Given the description of an element on the screen output the (x, y) to click on. 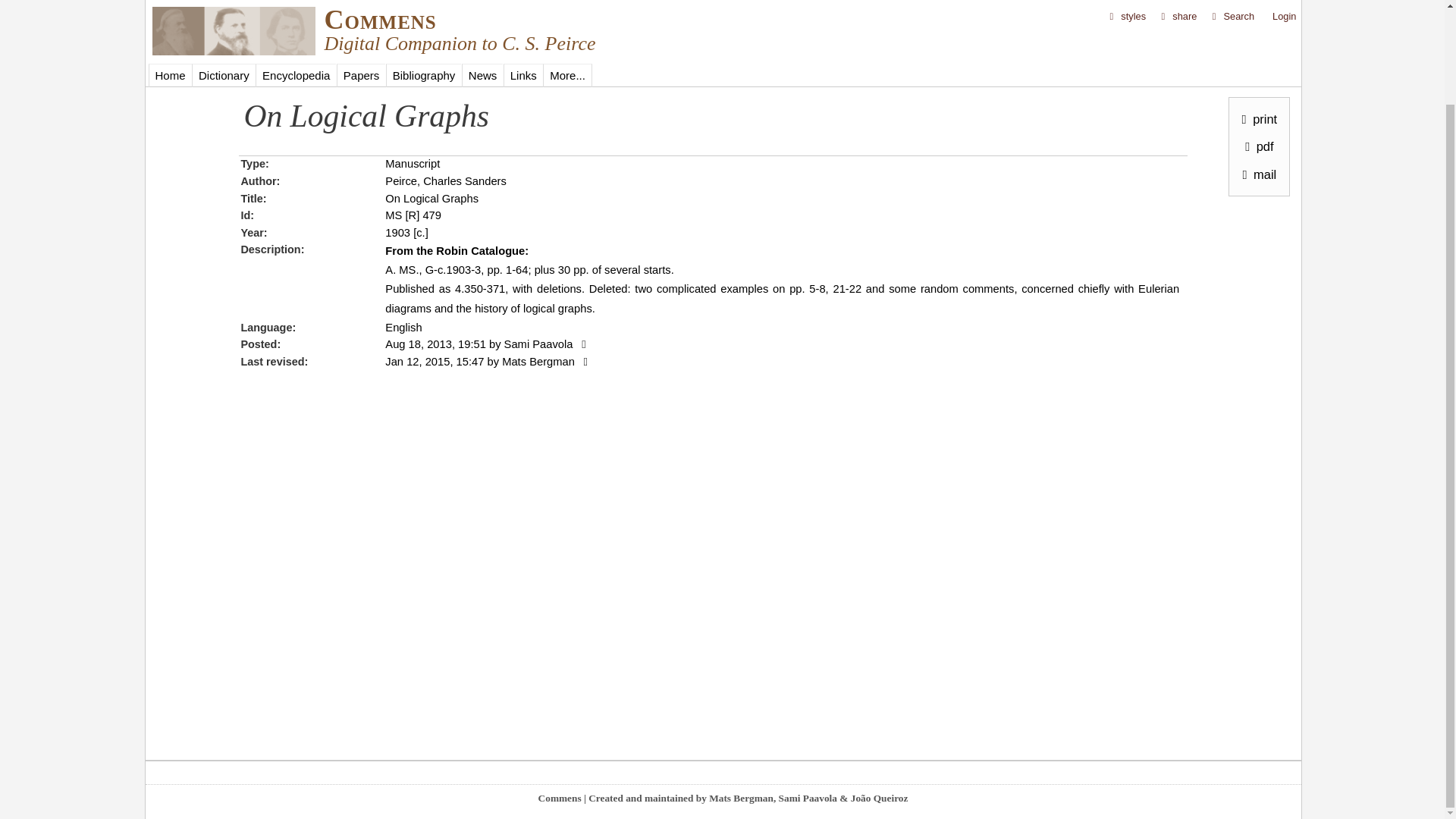
Send a message to the person who posted this item (581, 344)
pdf (1256, 38)
mail (1256, 65)
Download this Manuscript as a pdf file (1256, 38)
Send this Manuscript by email (1256, 65)
print (1255, 10)
Send a message to reviser (584, 361)
Open printer-friendly view of this Manuscript (1255, 10)
